Given the description of an element on the screen output the (x, y) to click on. 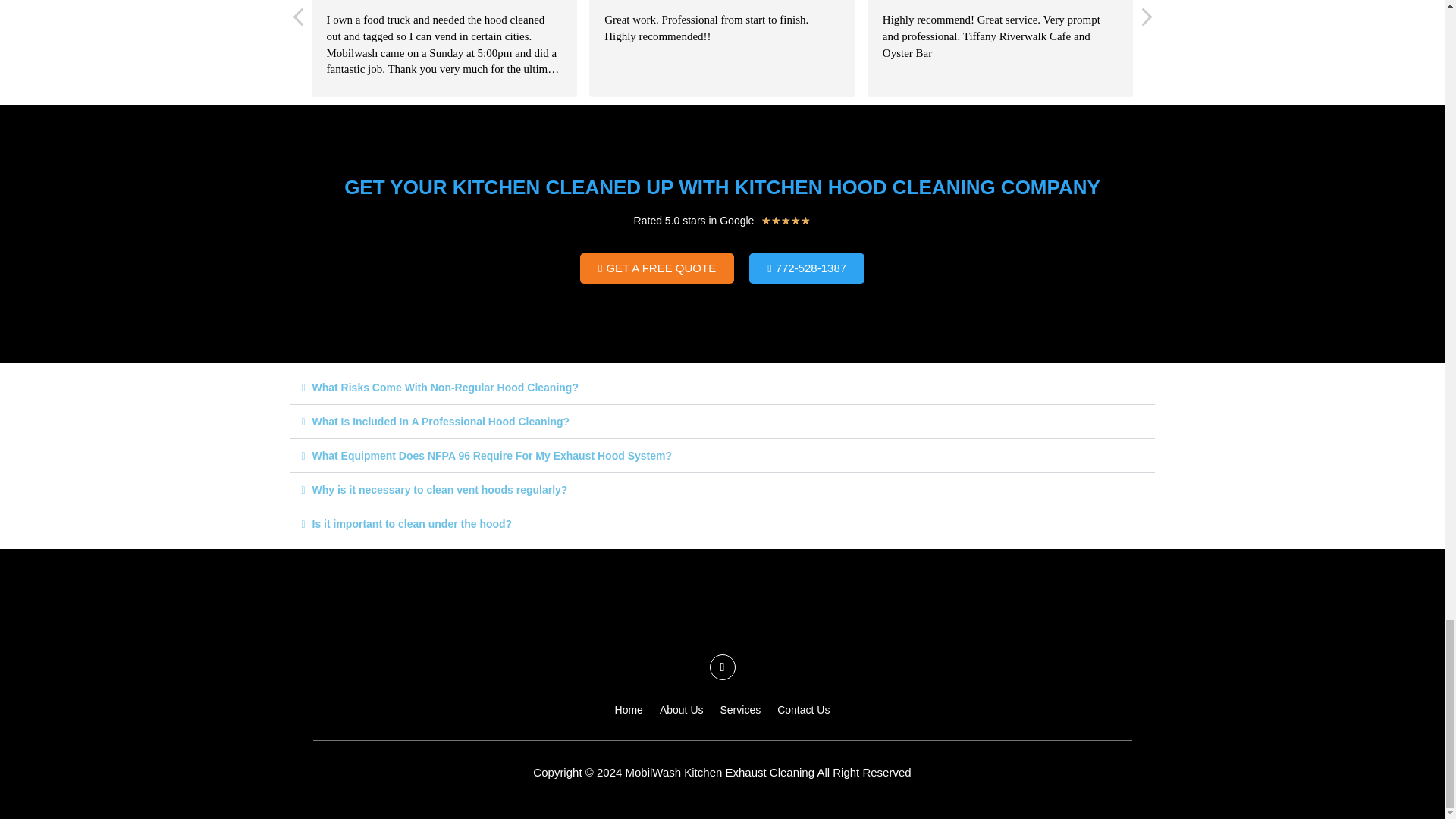
Contact Us (803, 712)
Why is it necessary to clean vent hoods regularly? (440, 490)
What Is Included In A Professional Hood Cleaning? (441, 421)
Follow on Facebook (722, 667)
Is it important to clean under the hood? (412, 523)
Services (740, 712)
772-528-1387 (806, 268)
Home (628, 712)
logo-mw (721, 611)
What Risks Come With Non-Regular Hood Cleaning? (445, 387)
GET A FREE QUOTE (656, 268)
About Us (681, 712)
